Given the description of an element on the screen output the (x, y) to click on. 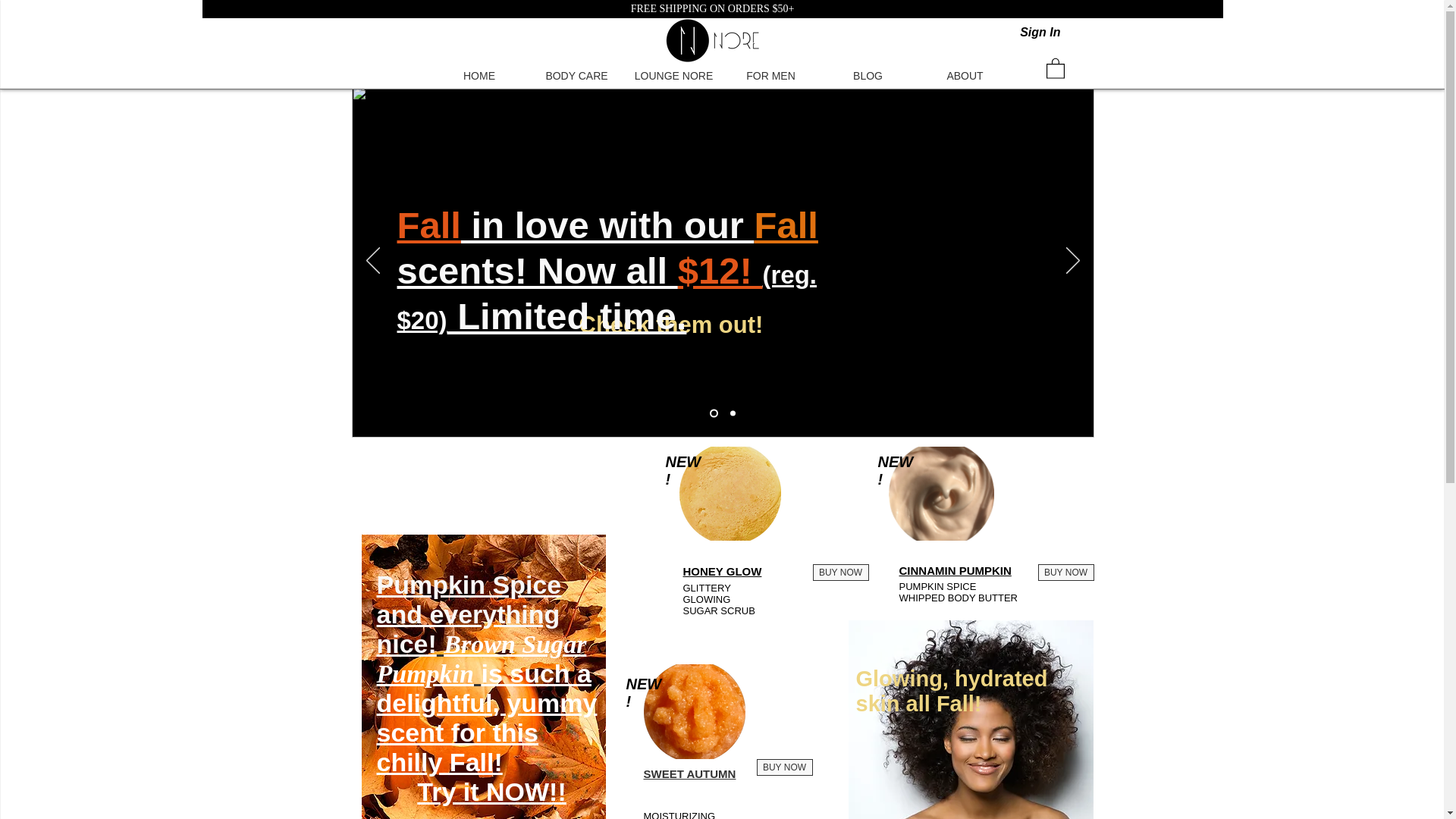
Read more (483, 595)
SWEET AUTUMN (689, 773)
LOUNGE NORE (673, 76)
BLOG (866, 76)
HOME (479, 76)
Try it NOW!! (491, 791)
delightful, yummy scent for this chilly Fall! (485, 732)
Check them out! (670, 324)
BUY TODAY (754, 223)
Sign In (1039, 32)
BUY NOW (1064, 572)
Glowing, hydrated skin all Fall! (951, 690)
BUY NOW (840, 572)
BUY NOW (784, 767)
